Given the description of an element on the screen output the (x, y) to click on. 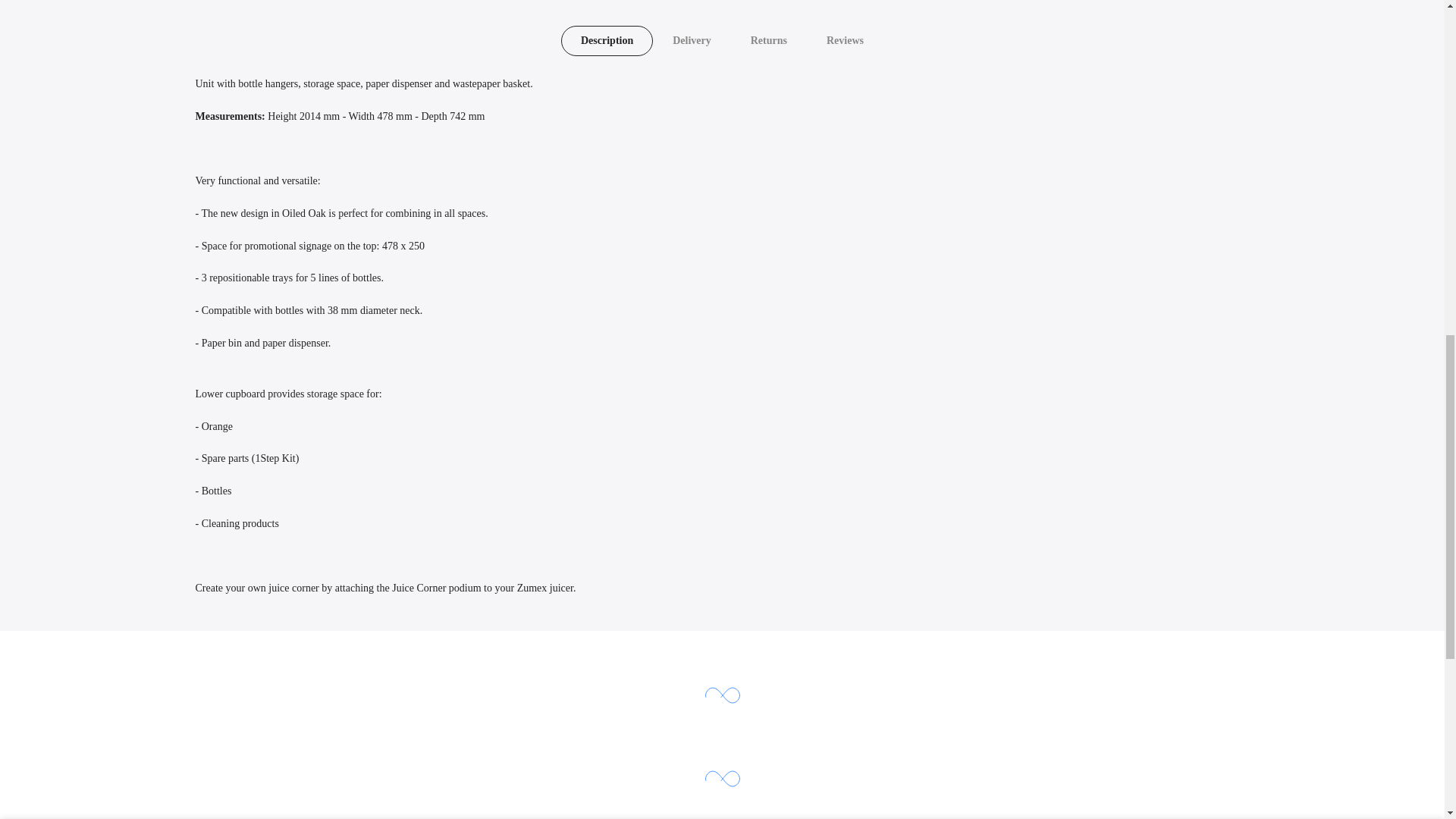
Description (606, 40)
Reviews (844, 40)
Returns (768, 40)
Delivery (691, 40)
1 (1085, 35)
